Given the description of an element on the screen output the (x, y) to click on. 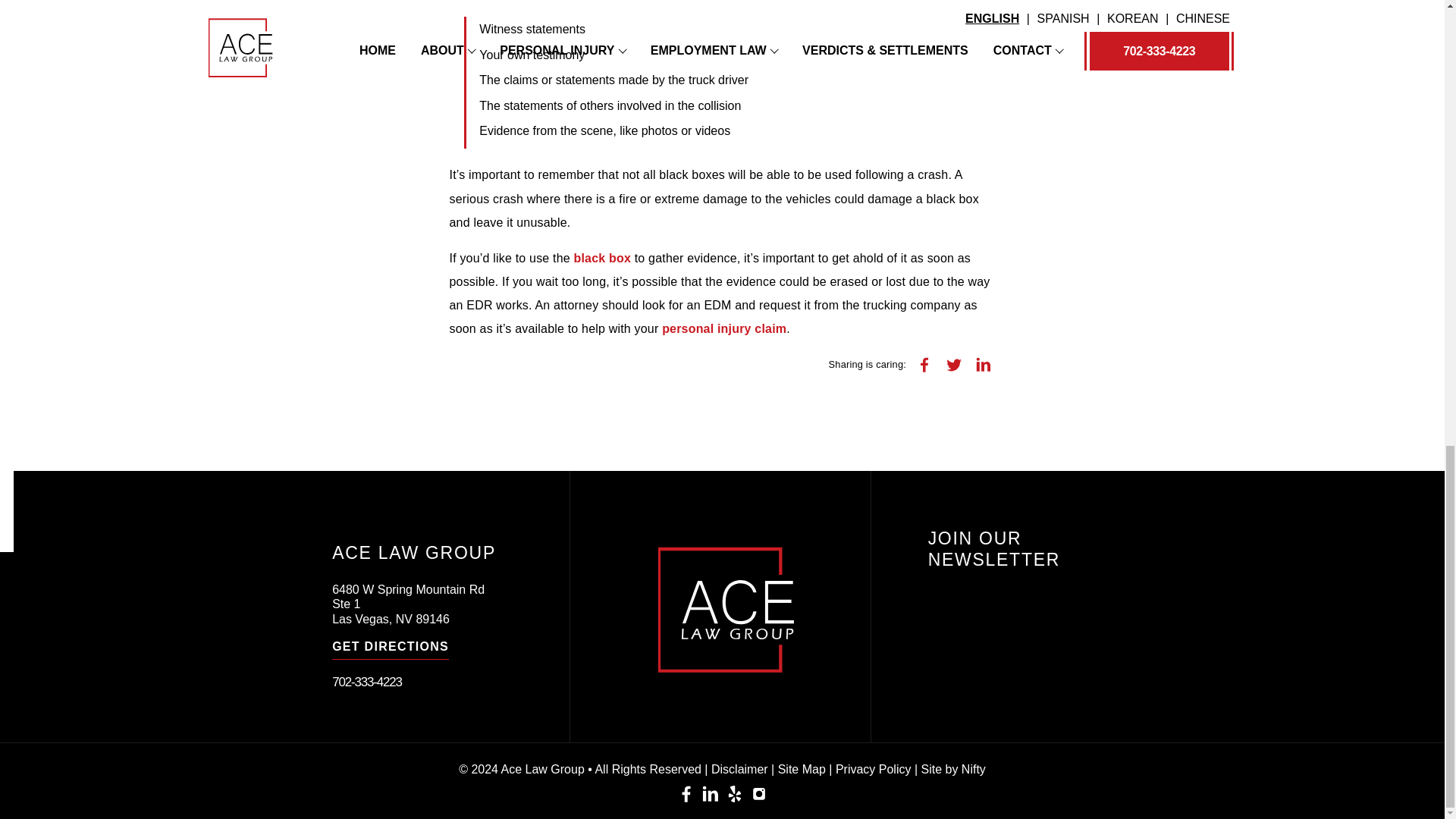
black box (602, 257)
Share on Twitter (953, 364)
Share on LinkedIn (982, 364)
personal injury claim (724, 328)
Share on Facebook (924, 364)
Join Our Newsletter (1044, 638)
